Given the description of an element on the screen output the (x, y) to click on. 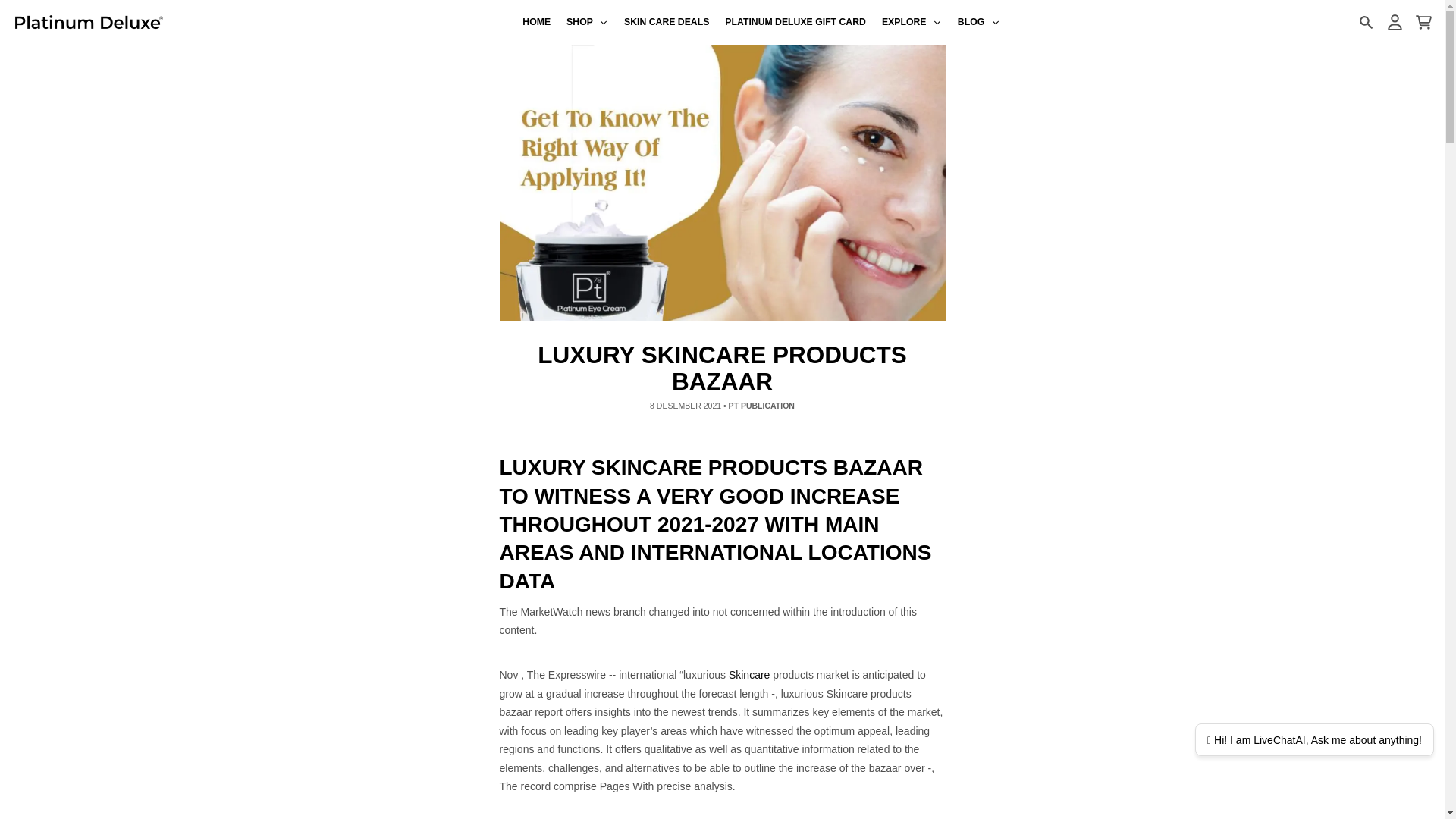
HOME (537, 22)
Skip to content (18, 7)
Search (1364, 22)
Cart (1423, 22)
Account (1394, 22)
SKIN CARE DEALS (666, 22)
PLATINUM DELUXE GIFT CARD (796, 22)
